Given the description of an element on the screen output the (x, y) to click on. 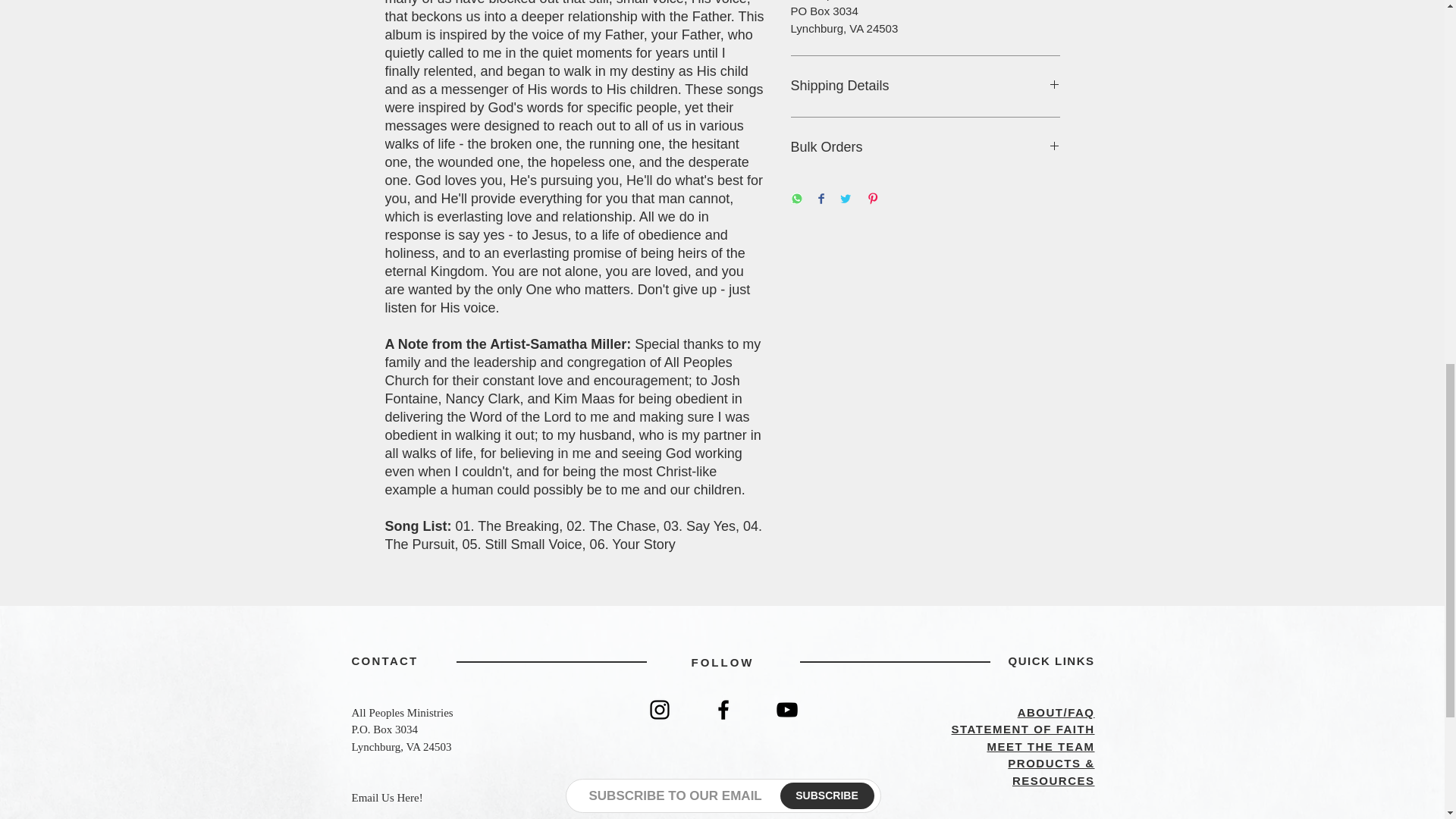
Bulk Orders (924, 147)
STATEMENT OF FAITH (1023, 728)
Shipping Details (924, 86)
SUBSCRIBE (825, 795)
Email Us Here! (387, 797)
MEET THE TEAM (1040, 746)
